Given the description of an element on the screen output the (x, y) to click on. 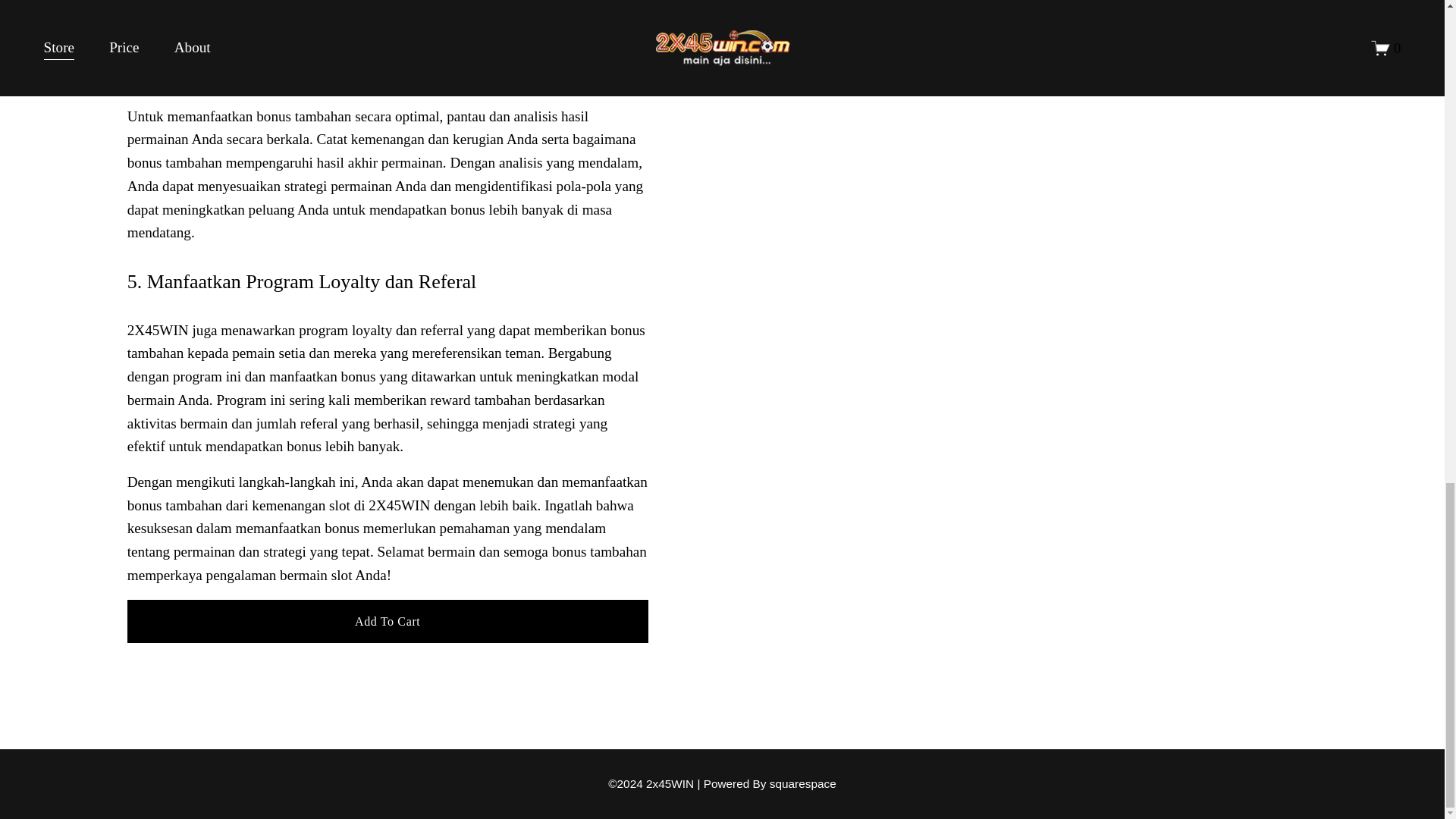
squarespace (802, 783)
squarespace 2x45WIN (802, 783)
Add To Cart (387, 620)
